Given the description of an element on the screen output the (x, y) to click on. 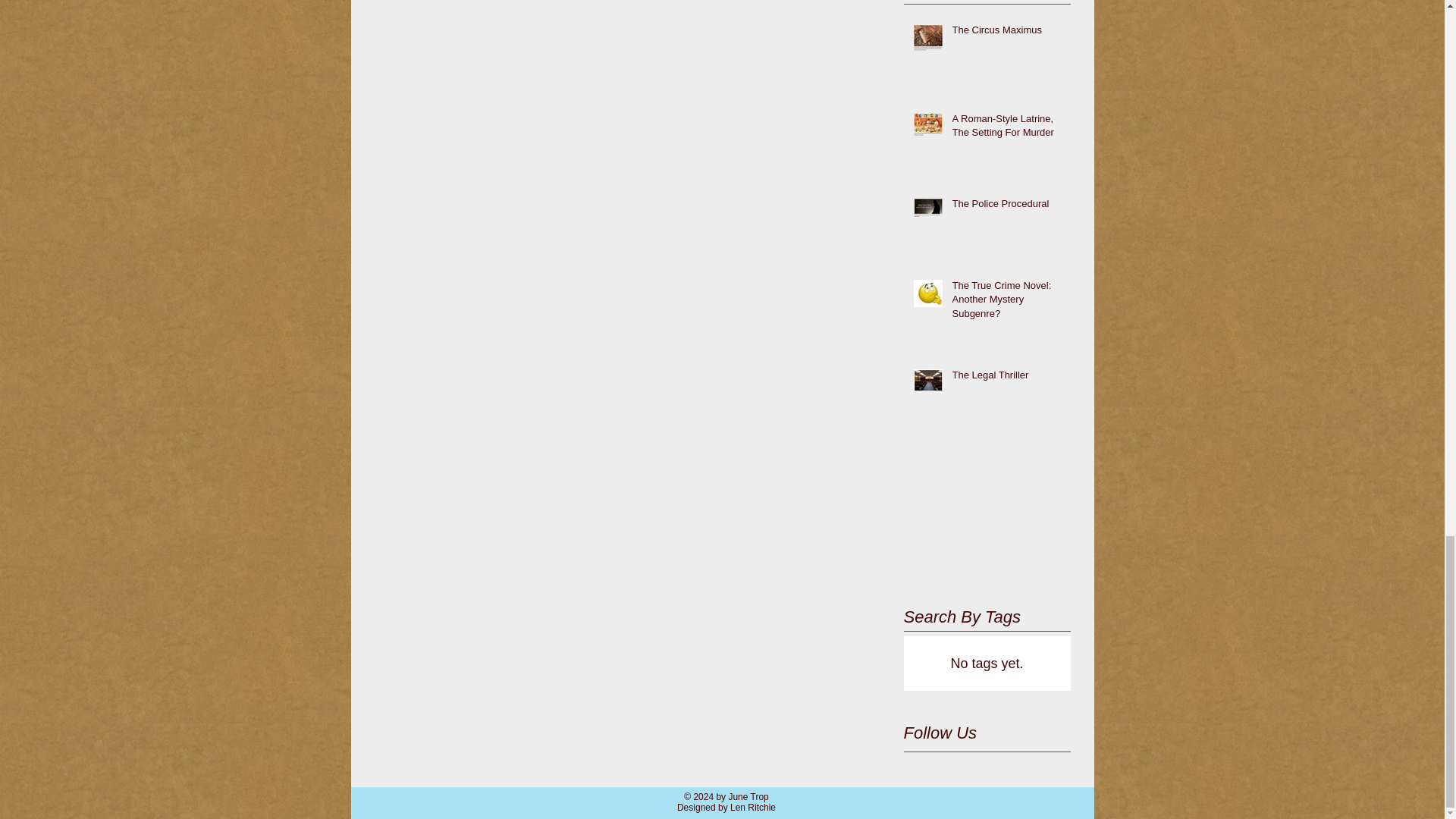
The Police Procedural (1006, 207)
The Legal Thriller (1006, 378)
The Circus Maximus (1006, 33)
A Roman-Style Latrine, The Setting For Murder (1006, 128)
The True Crime Novel: Another Mystery Subgenre? (1006, 302)
